Given the description of an element on the screen output the (x, y) to click on. 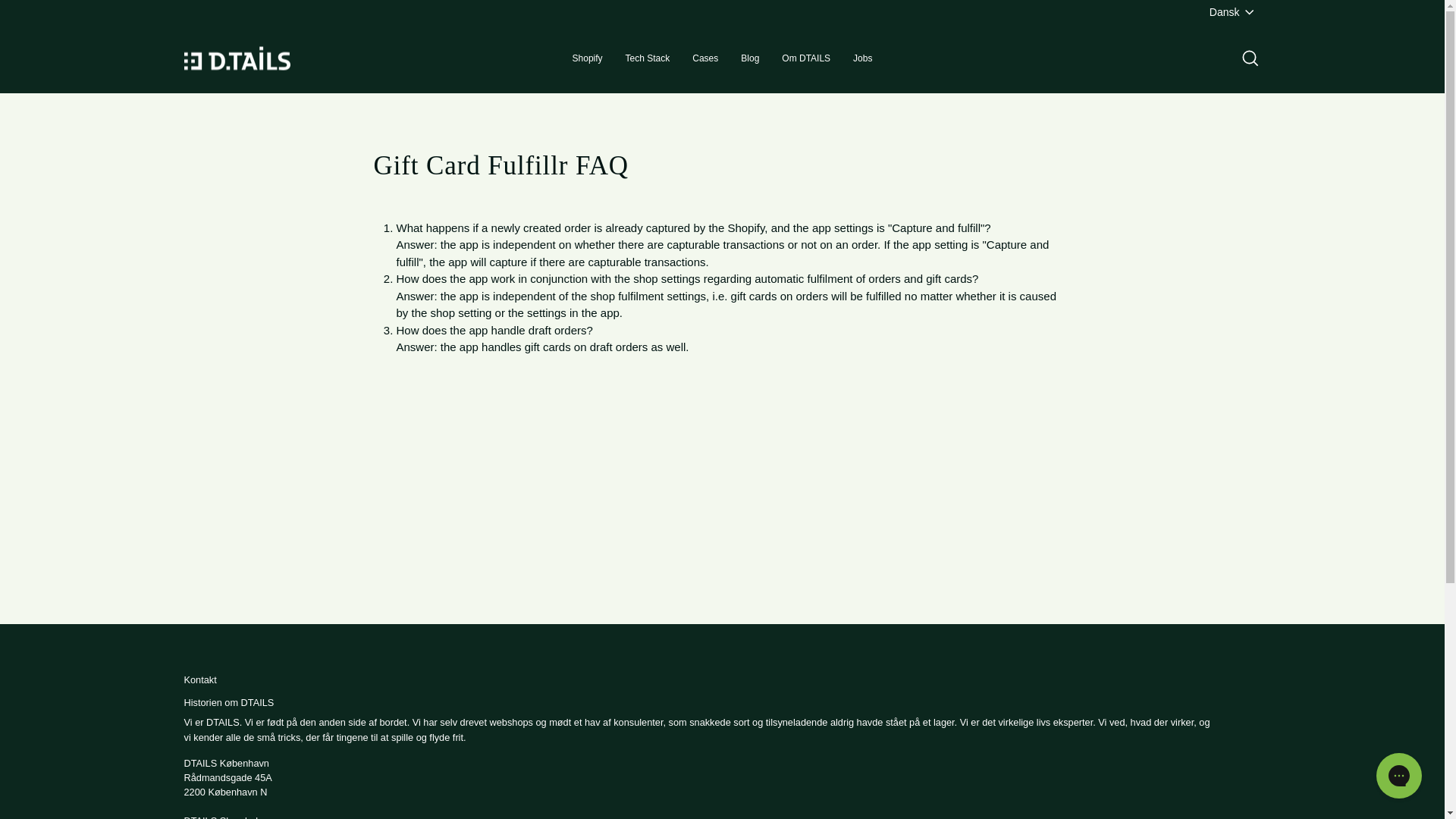
Cases (705, 58)
Tech Stack (647, 58)
Jobs (862, 58)
Gorgias live chat messenger (1398, 775)
Shopify (587, 58)
Blog (749, 58)
Dansk (1232, 12)
Om DTAILS (805, 58)
